Given the description of an element on the screen output the (x, y) to click on. 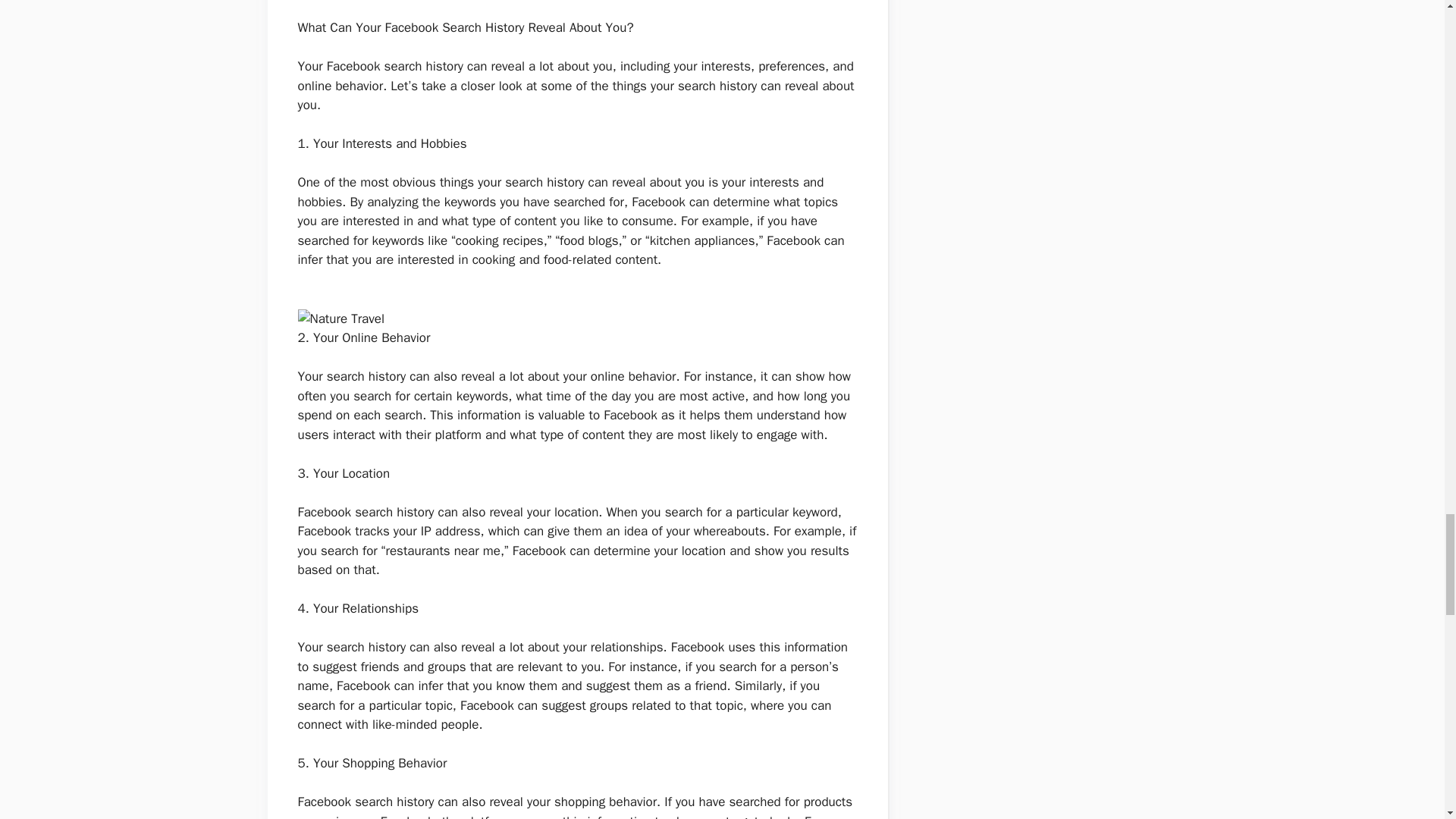
Nature Travel (340, 319)
